Given the description of an element on the screen output the (x, y) to click on. 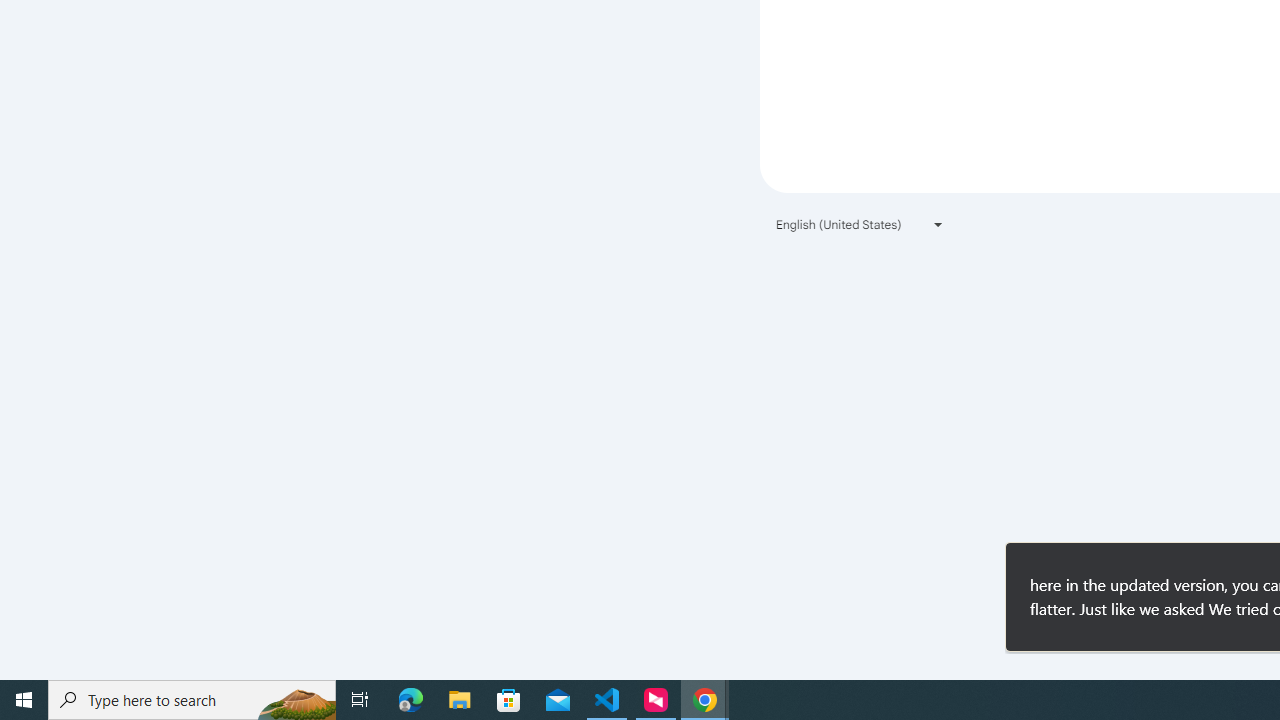
English (United States) (860, 224)
